Given the description of an element on the screen output the (x, y) to click on. 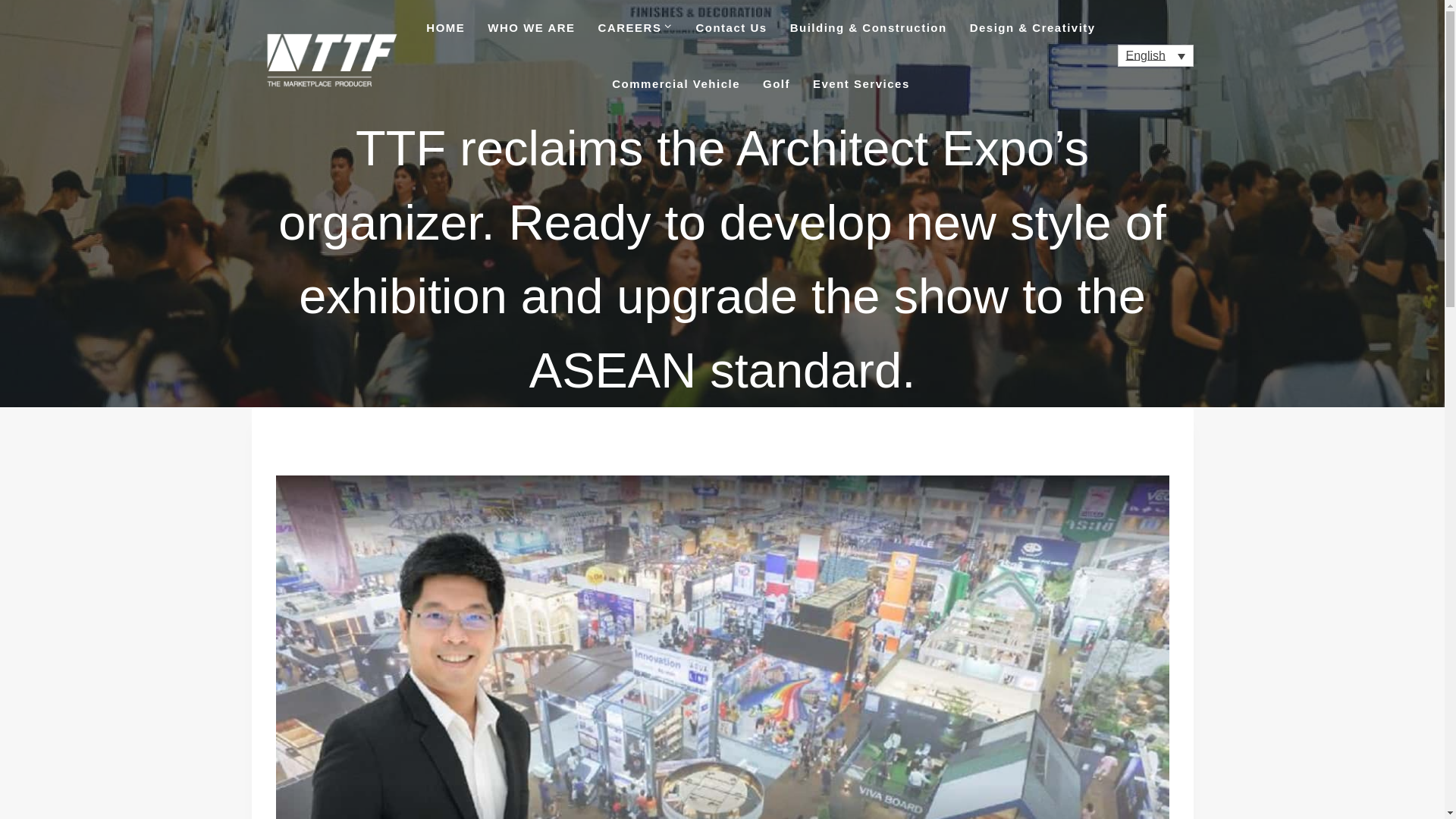
Event Services (861, 84)
CAREERS (635, 28)
Golf (776, 84)
WHO WE ARE (531, 28)
Commercial Vehicle (675, 84)
English (1155, 55)
Contact Us (730, 28)
HOME (445, 28)
